Given the description of an element on the screen output the (x, y) to click on. 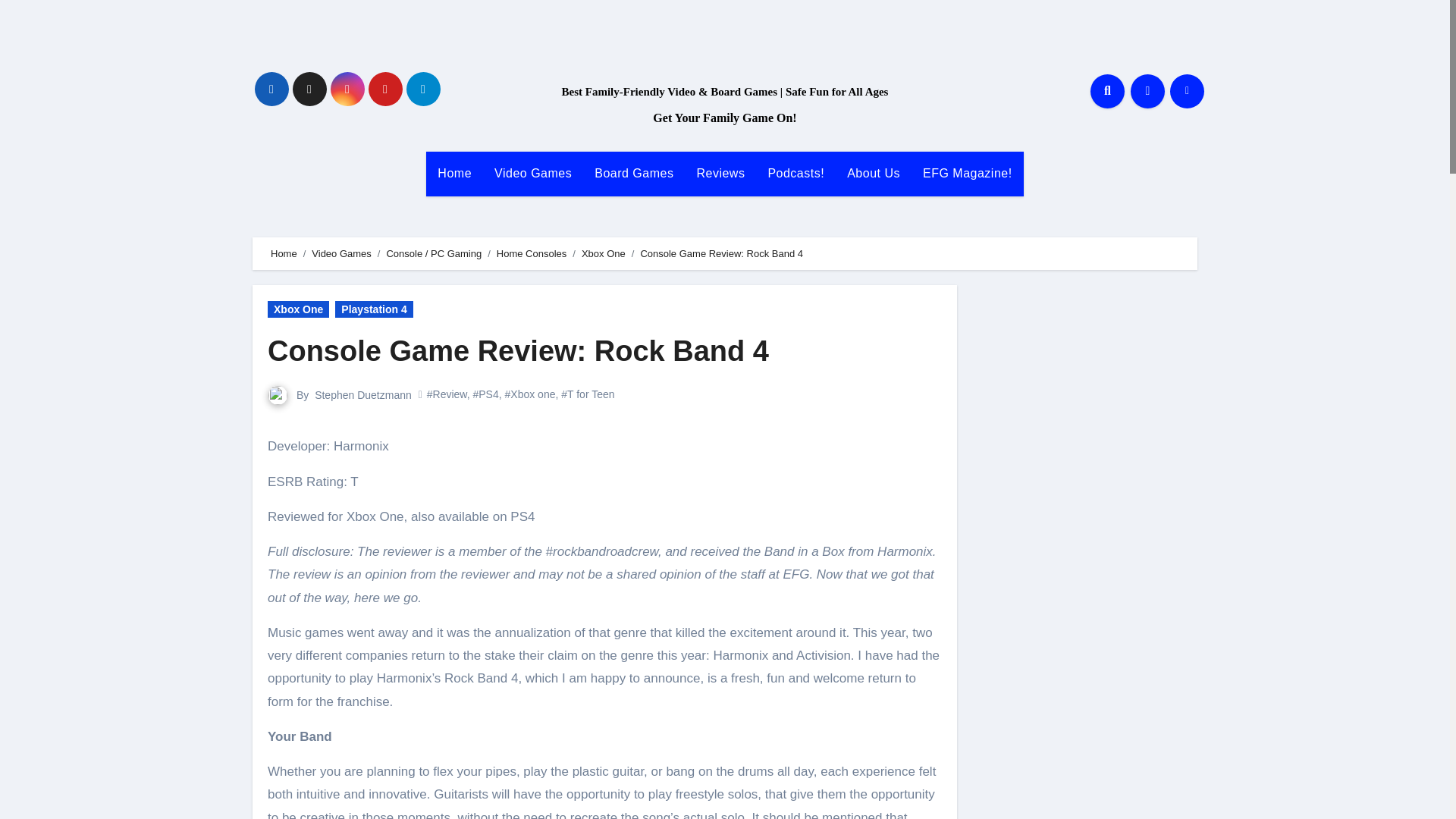
Reviews (719, 173)
Podcasts! (795, 173)
About Us (873, 173)
Video Games (533, 173)
Video Games (341, 253)
Console Game Review: Rock Band 4 (517, 350)
Home (283, 253)
Xbox One (603, 253)
Video Games (533, 173)
Home (454, 173)
Podcasts! (795, 173)
Stephen Duetzmann (363, 394)
Xbox One (298, 309)
EFG Magazine! (967, 173)
Playstation 4 (373, 309)
